Given the description of an element on the screen output the (x, y) to click on. 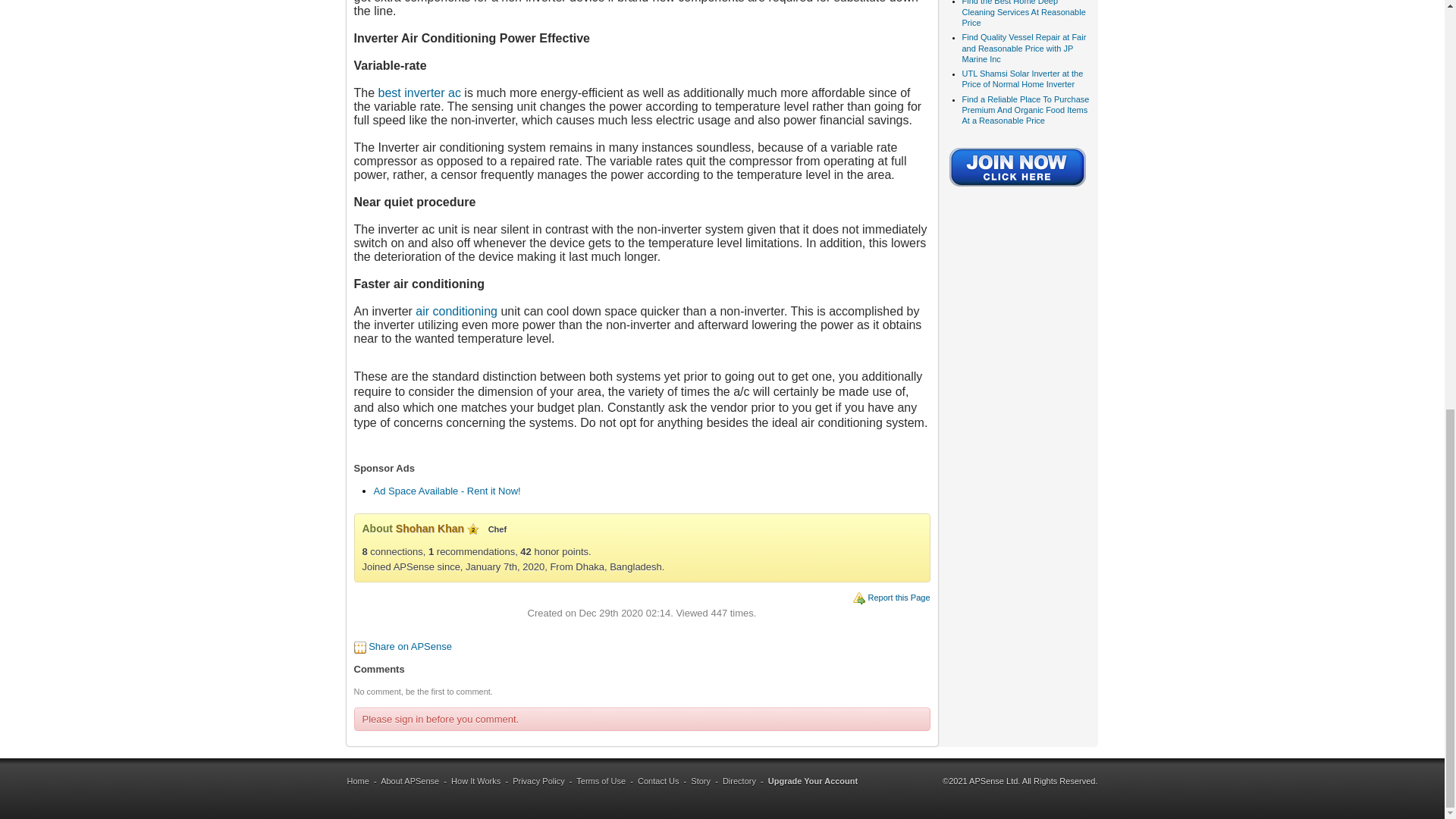
Report this Page (898, 596)
Shohan Khan (430, 528)
Freshman (473, 529)
Share on APSense (409, 645)
air conditioning (455, 310)
best inverter ac (419, 92)
